Given the description of an element on the screen output the (x, y) to click on. 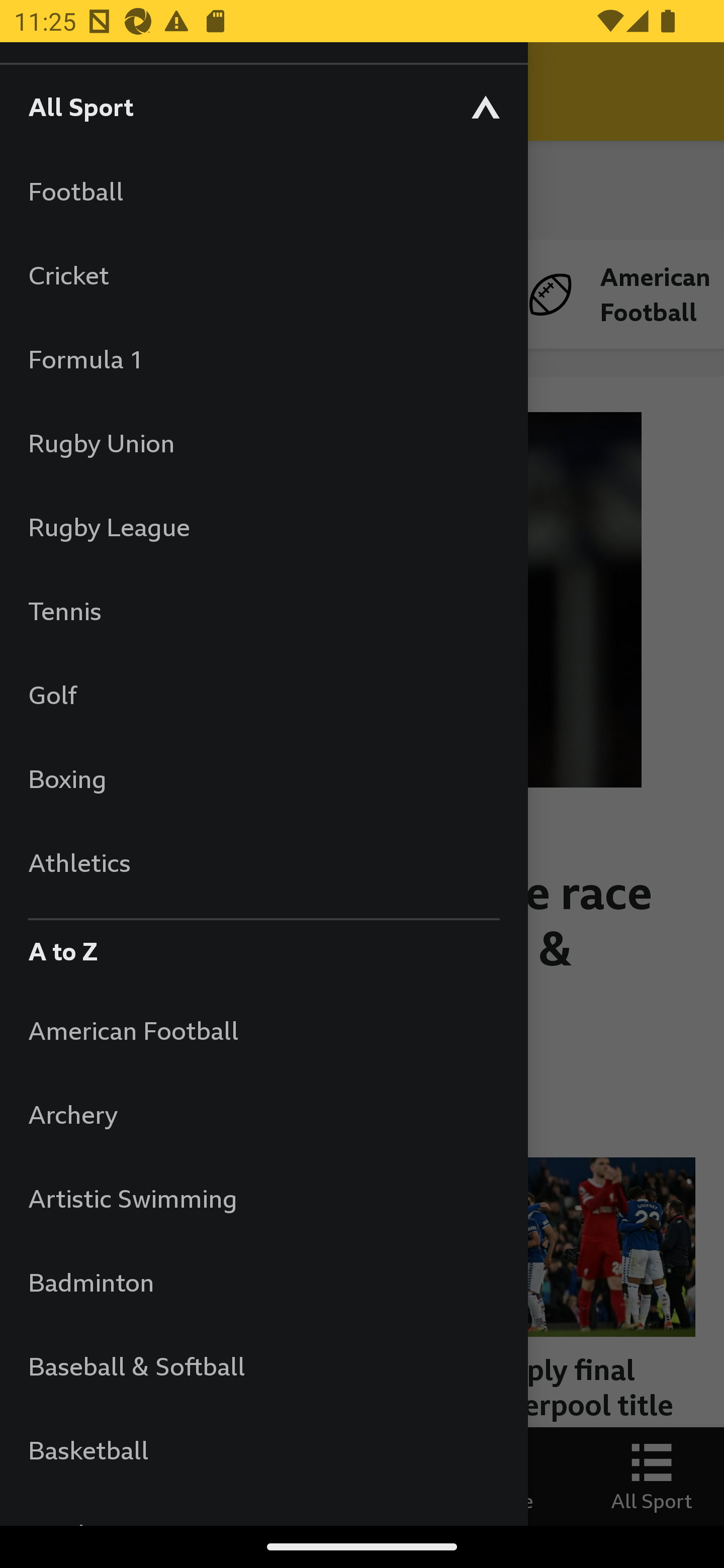
All Sport (263, 105)
Football (263, 190)
Cricket (263, 274)
Formula 1 (263, 358)
Rugby Union (263, 441)
Rugby League (263, 526)
Tennis (263, 609)
Golf (263, 694)
Boxing (263, 778)
Athletics (263, 862)
A to Z (263, 945)
American Football (263, 1029)
Archery (263, 1114)
Artistic Swimming (263, 1197)
Badminton (263, 1282)
Baseball & Softball (263, 1365)
Basketball (263, 1450)
